Given the description of an element on the screen output the (x, y) to click on. 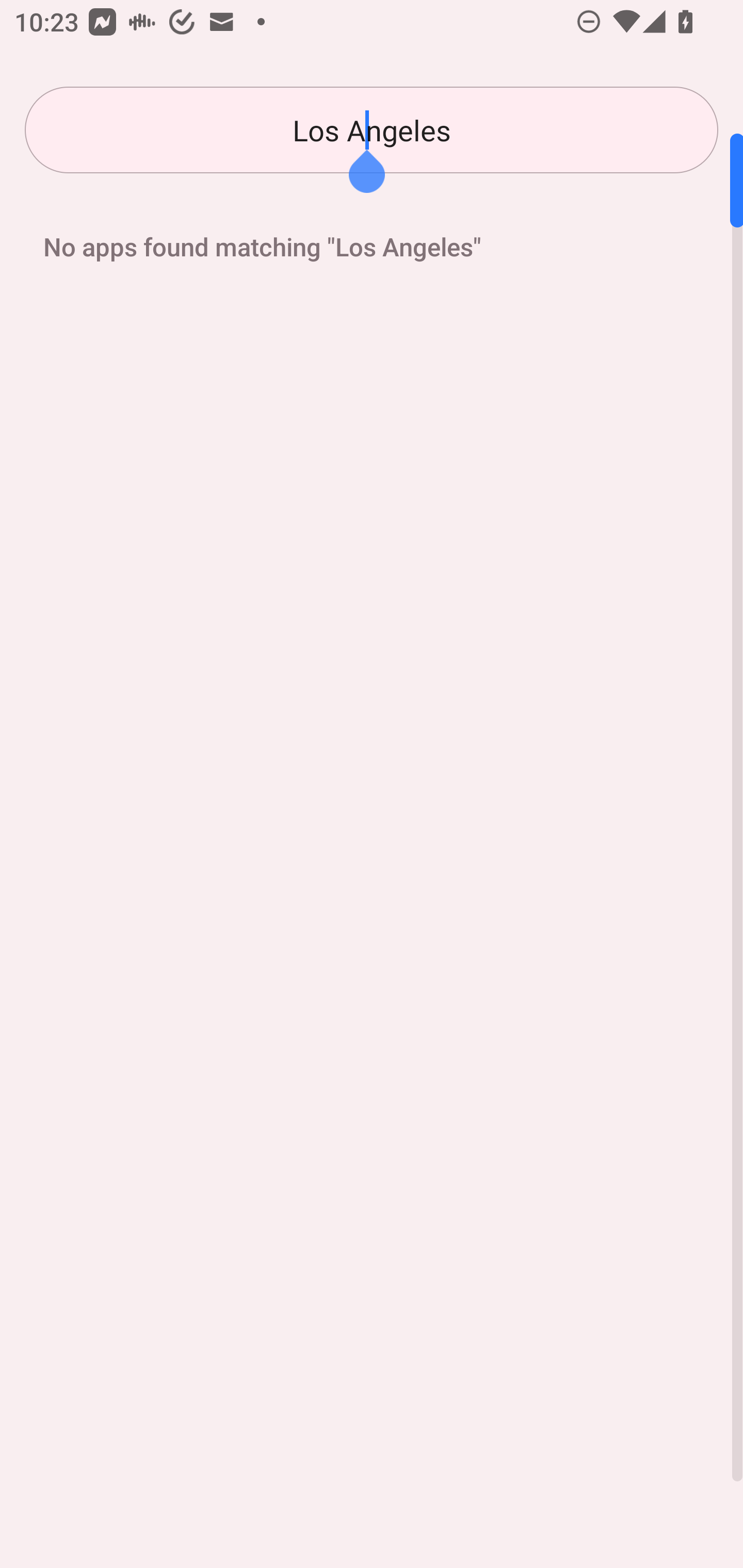
Los Angeles (371, 130)
